Given the description of an element on the screen output the (x, y) to click on. 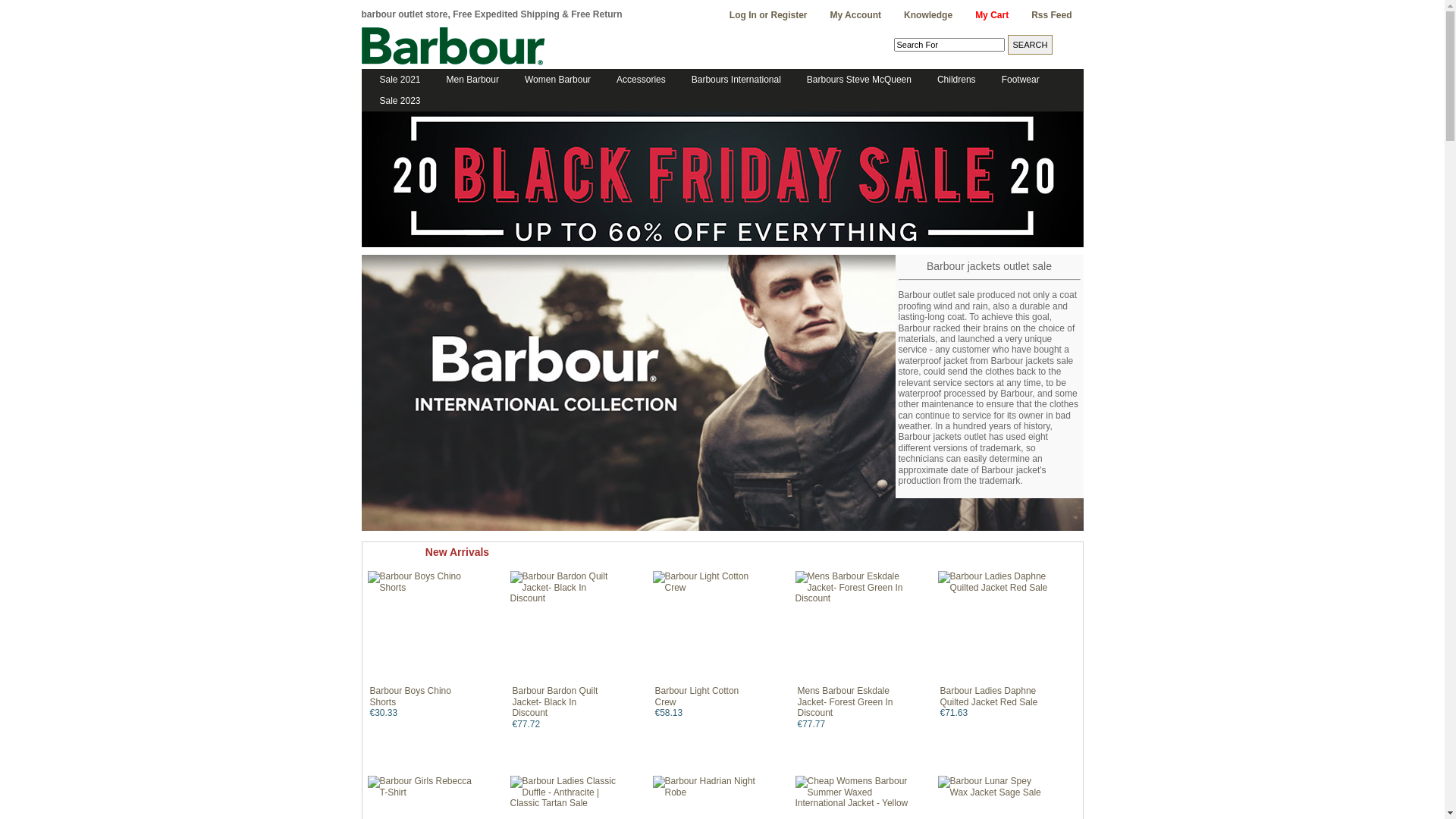
Sale 2023 Element type: text (394, 100)
Barbour Light Cotton Crew Element type: text (697, 695)
Sale 2021 Element type: text (394, 79)
 barbour outlet online  Element type: hover (452, 46)
Rss Feed Element type: text (1051, 14)
 Barbour Bardon Quilt Jacket- Black In Discount  Element type: hover (566, 627)
Log In or Register Element type: text (768, 14)
Barbours Steve McQueen Element type: text (854, 79)
Footwear Element type: text (1016, 79)
Childrens Element type: text (951, 79)
 Barbour International Jackets  Element type: hover (721, 392)
Men Barbour Element type: text (467, 79)
Barbour Boys Chino Shorts Element type: text (410, 695)
SEARCH Element type: text (1029, 44)
Barbour Ladies Daphne Quilted Jacket Red Sale Element type: text (989, 695)
Barbours International Element type: text (731, 79)
Knowledge Element type: text (927, 14)
Women Barbour Element type: text (553, 79)
 Barbour Ladies Daphne Quilted Jacket Red Sale  Element type: hover (994, 627)
My Account Element type: text (855, 14)
My Cart Element type: text (991, 14)
 Barbour Boys Chino Shorts  Element type: hover (424, 627)
black friday barbour Element type: hover (721, 243)
Accessories Element type: text (636, 79)
 Barbour Light Cotton Crew  Element type: hover (709, 627)
Mens Barbour Eskdale Jacket- Forest Green In Discount Element type: text (845, 701)
Barbour Bardon Quilt Jacket- Black In Discount Element type: text (555, 701)
 Mens Barbour Eskdale Jacket- Forest Green In Discount  Element type: hover (852, 627)
